Given the description of an element on the screen output the (x, y) to click on. 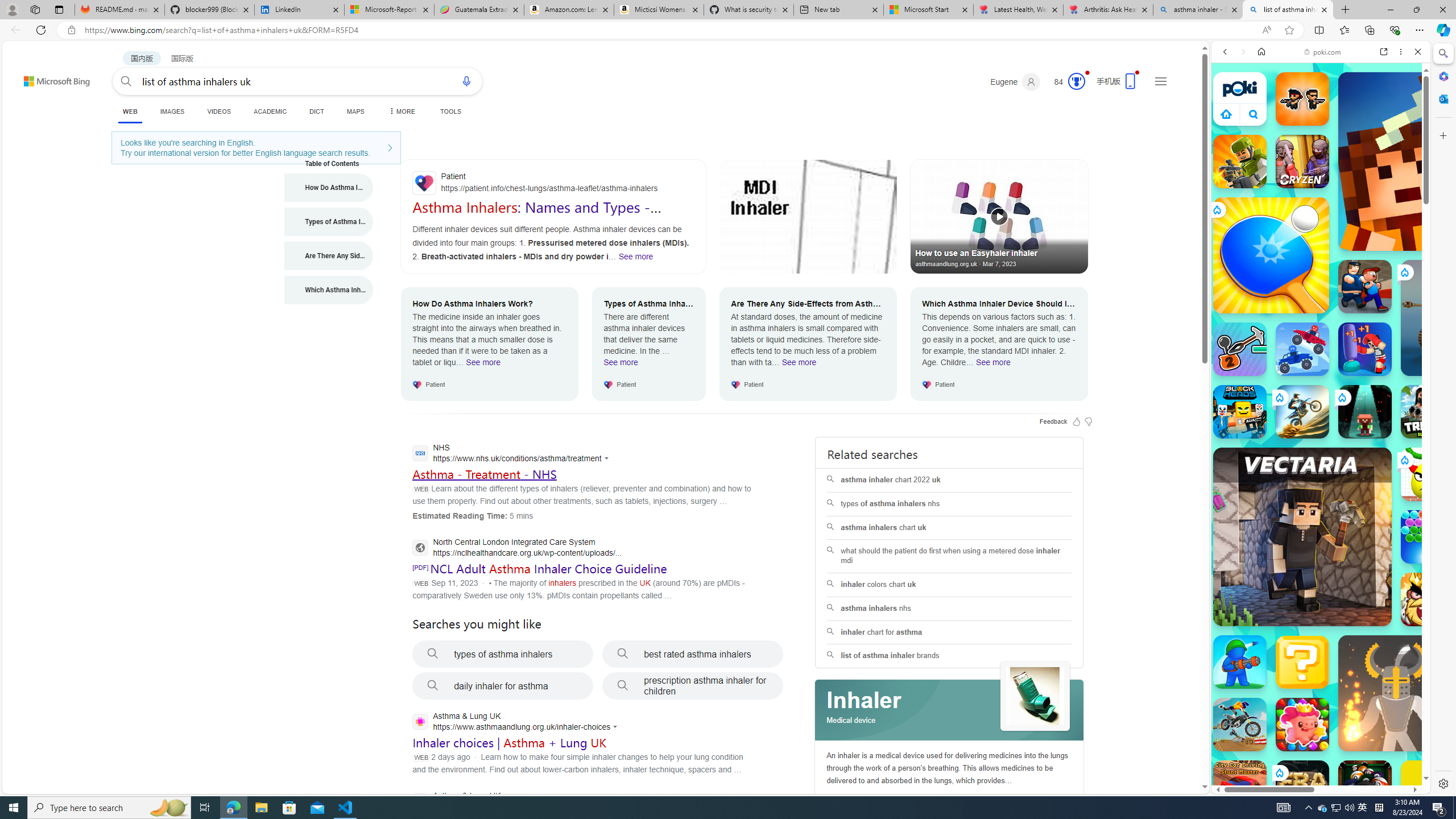
Match Arena (1302, 724)
Cryzen.io Cryzen.io (1302, 161)
ACADEMIC (269, 111)
Games for Girls (1320, 407)
list of asthma inhalers uk - Search (1287, 9)
Are There Any Side-Effects from Asthma Inhalers? (328, 255)
Mystery Tile (1302, 661)
Asthma & Lung UK (513, 802)
Asthma Inhalers: Names and Types - Patient (536, 214)
inhaler colors chart uk (949, 584)
See more images of Inhaler (1035, 697)
Sports Games (1320, 379)
